Given the description of an element on the screen output the (x, y) to click on. 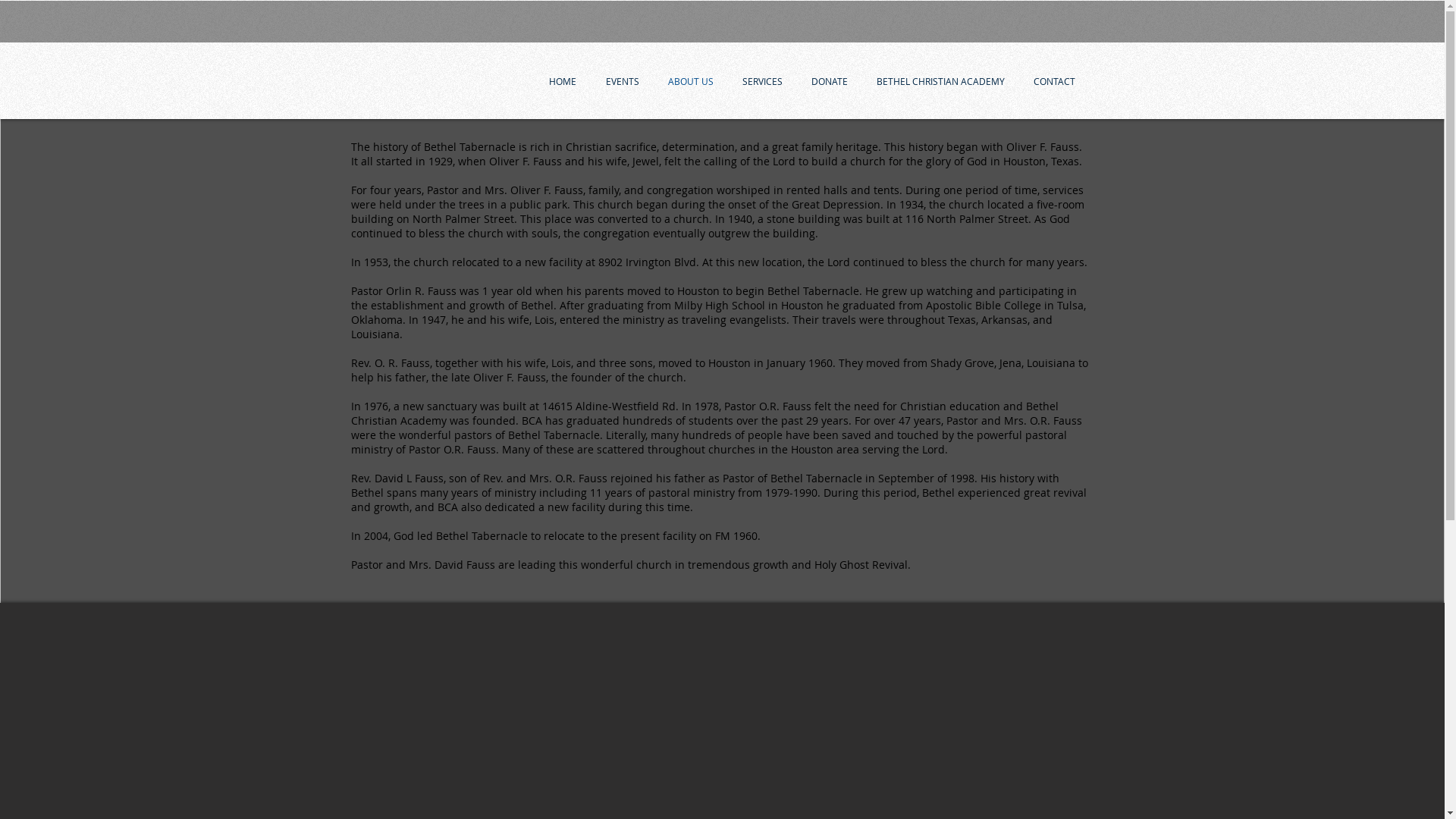
SERVICES Element type: text (762, 80)
ABOUT US Element type: text (690, 80)
CONTACT Element type: text (1054, 80)
BETHEL CHRISTIAN ACADEMY Element type: text (939, 80)
EVENTS Element type: text (622, 80)
DONATE Element type: text (828, 80)
HOME Element type: text (561, 80)
